Given the description of an element on the screen output the (x, y) to click on. 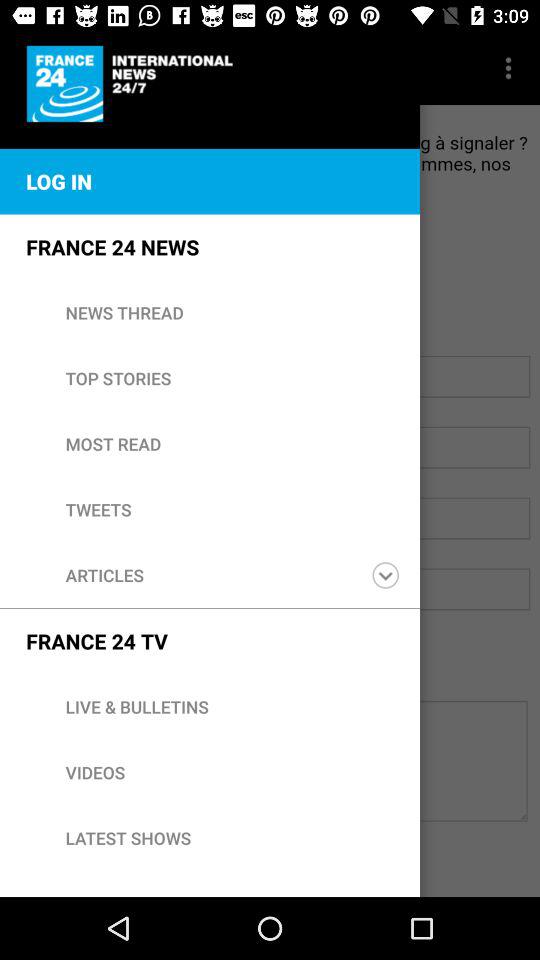
click on the down arrow button to the right side of articles (385, 575)
click on international news 247 (134, 83)
